Given the description of an element on the screen output the (x, y) to click on. 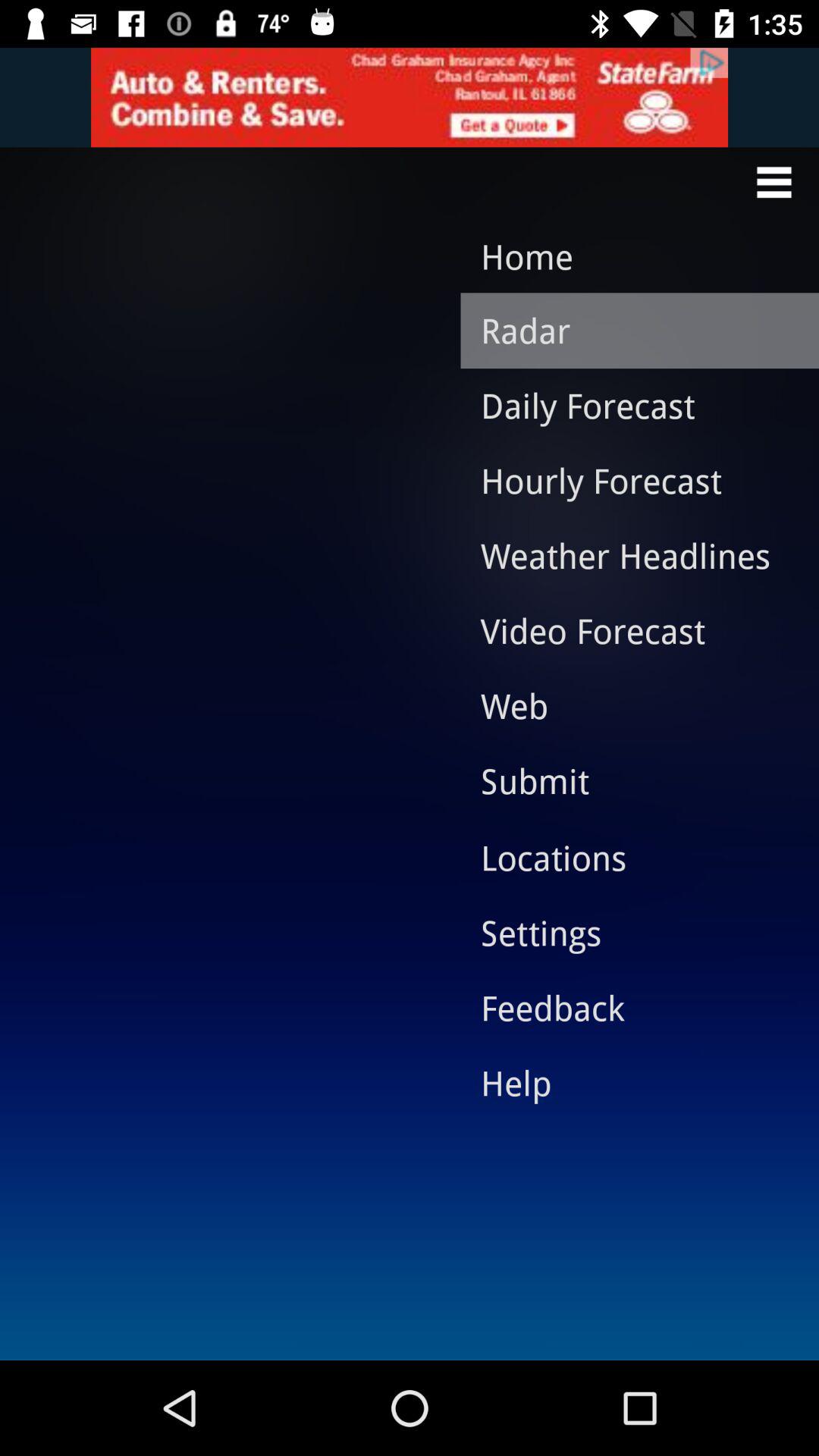
add the option (409, 97)
